Given the description of an element on the screen output the (x, y) to click on. 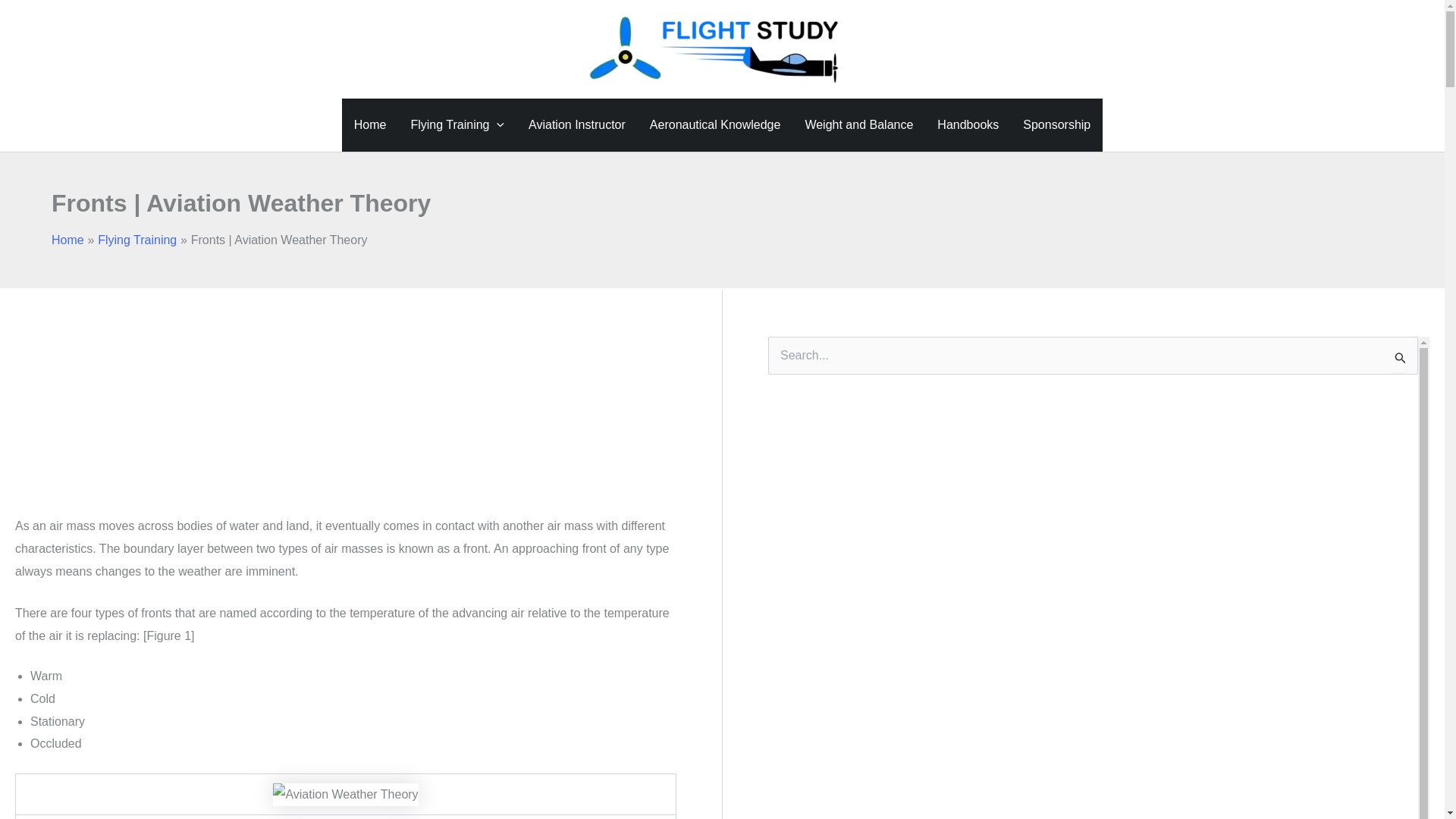
Flying Training (136, 239)
Home (370, 124)
Flying Training (456, 124)
Aeronautical Knowledge (715, 124)
Handbooks (967, 124)
Home (67, 239)
Sponsorship (1056, 124)
Weight and Balance (858, 124)
Common chart symbology to depict weather front location (345, 793)
Aviation Instructor (576, 124)
